Given the description of an element on the screen output the (x, y) to click on. 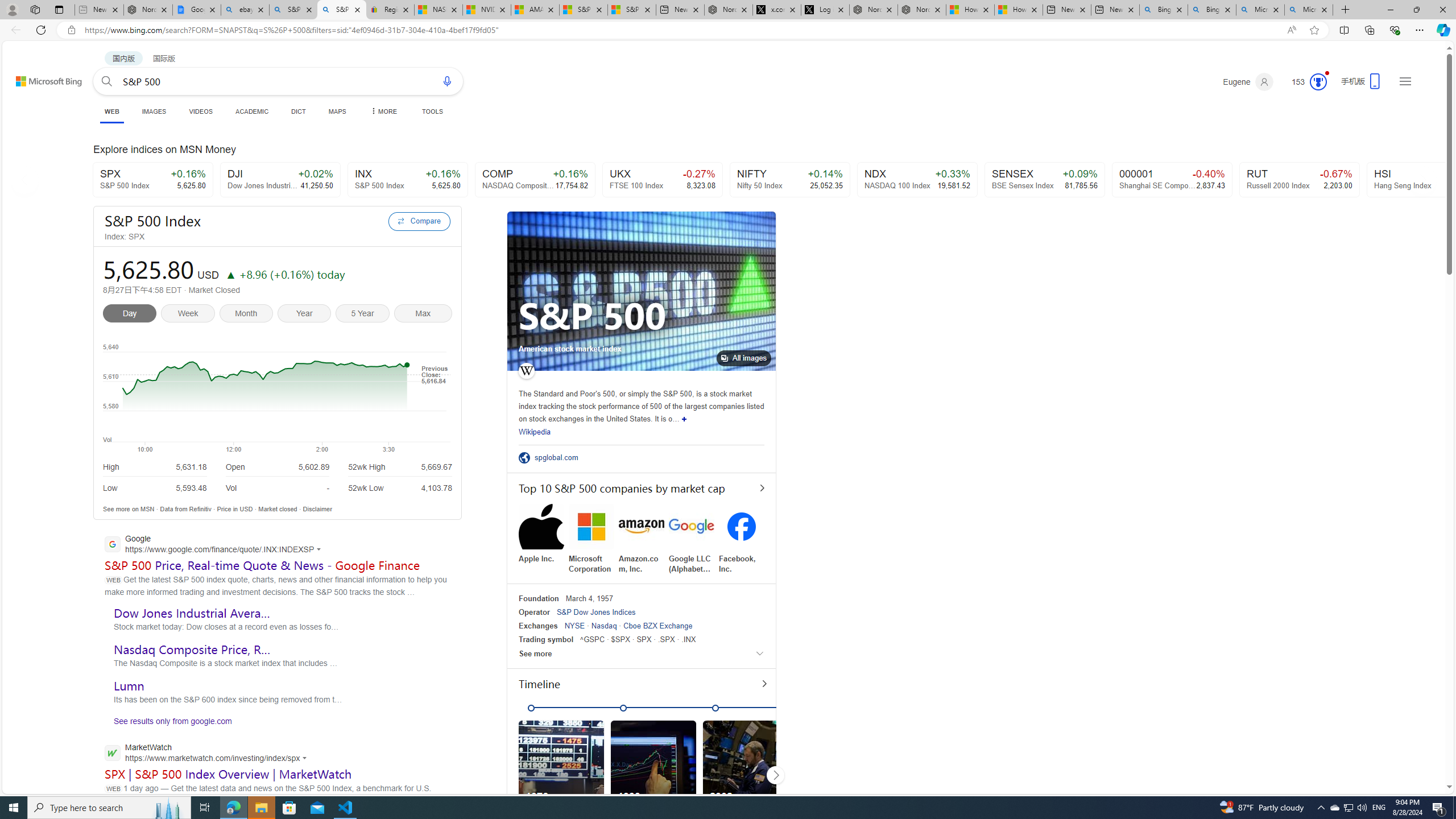
x.com/NordaceOfficial (777, 9)
See more (641, 653)
Trading symbol (545, 639)
MarketWatch (208, 753)
WEB (111, 112)
S&P 500, Nasdaq end lower, weighed by Nvidia dip | Watch (631, 9)
See results only from google.com (167, 723)
INX +0.16% S&P 500 Index 5,625.80 (407, 179)
Apple Inc. (541, 533)
VIDEOS (201, 111)
Eugene (1248, 81)
